Given the description of an element on the screen output the (x, y) to click on. 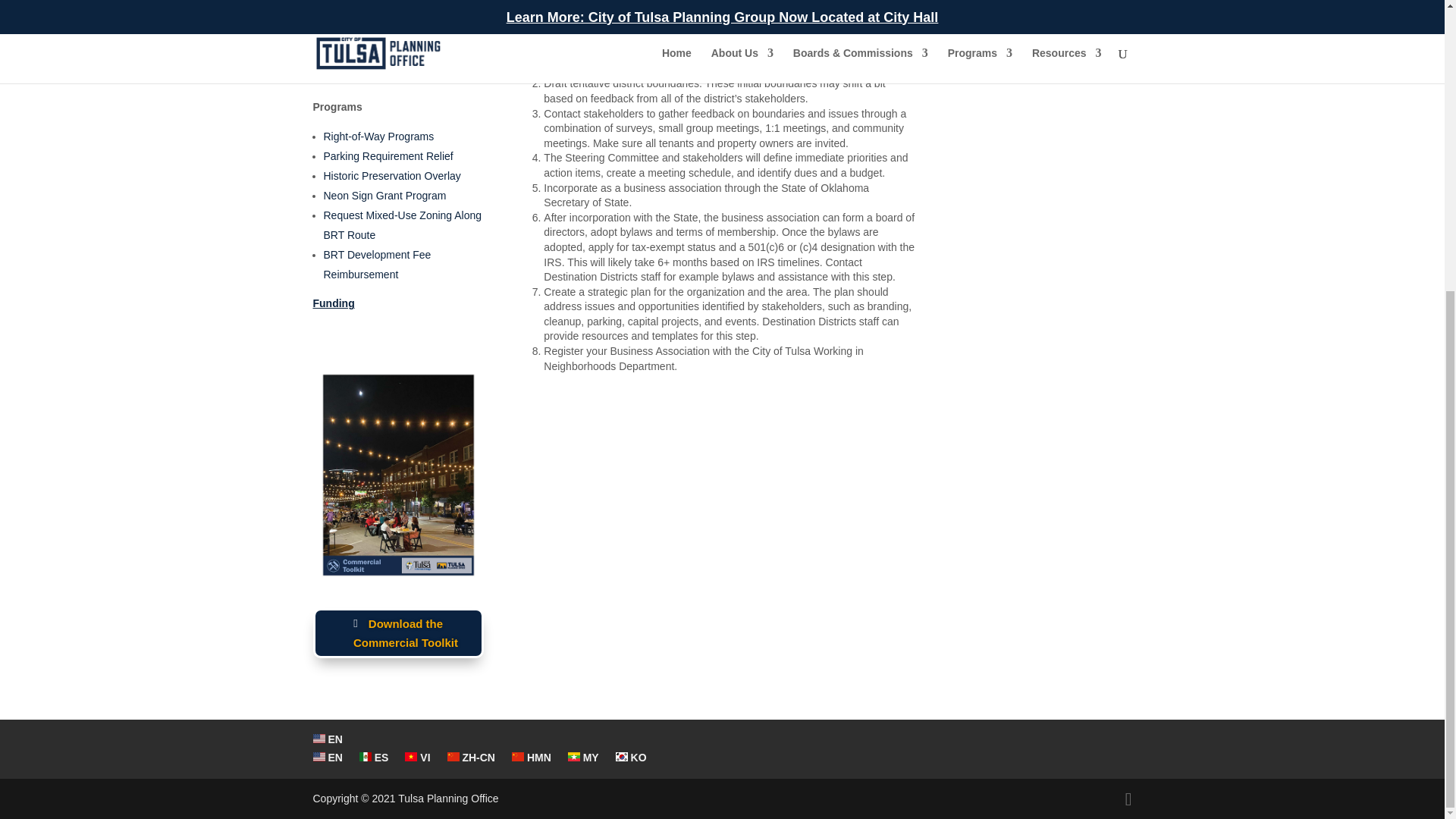
Spanish (373, 757)
Vietnamese (416, 757)
English (327, 739)
Hmong (531, 757)
Korean (630, 757)
English (327, 757)
